Given the description of an element on the screen output the (x, y) to click on. 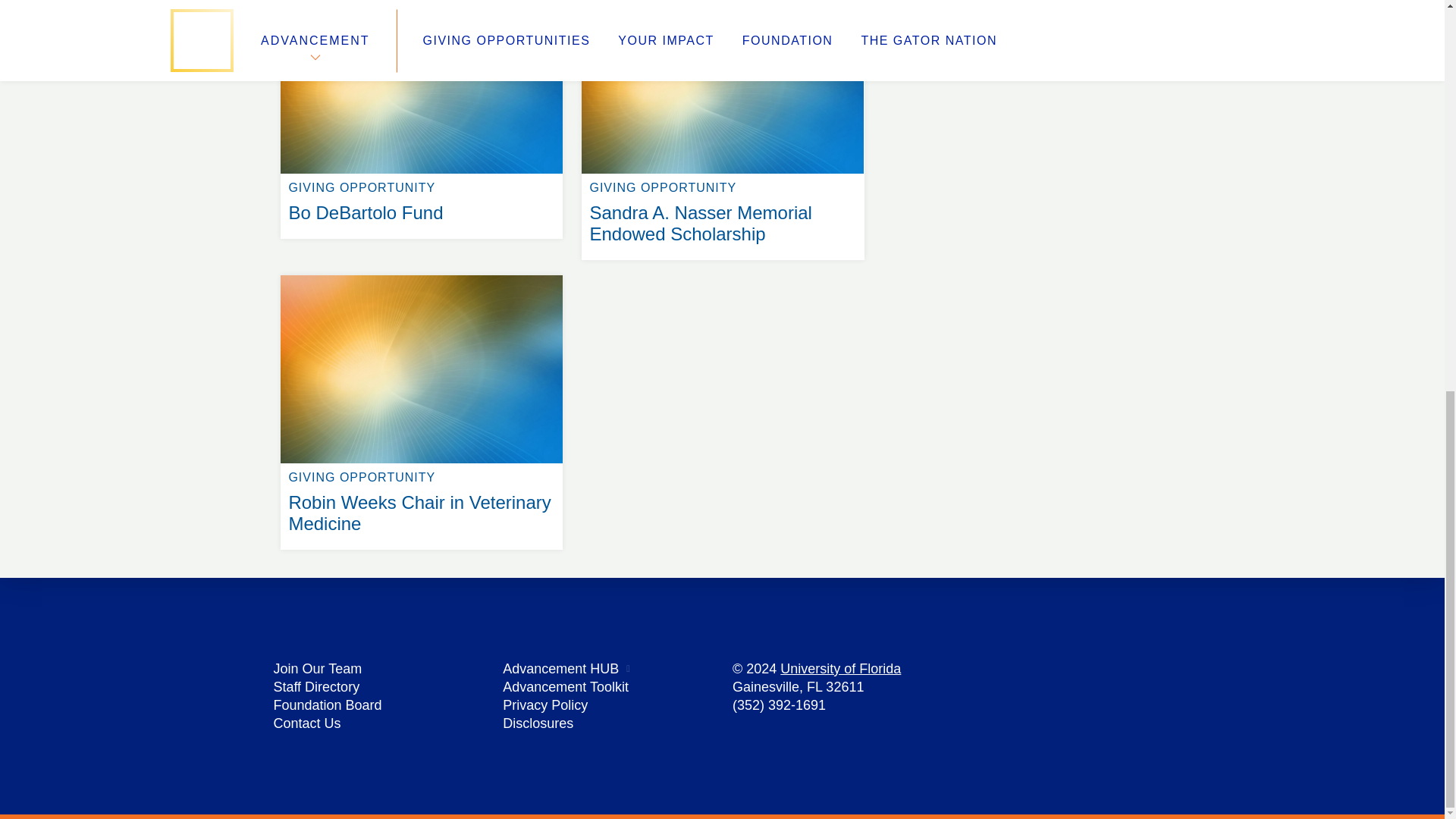
Advancement HUB (560, 668)
Advancement Toolkit (565, 686)
Privacy Policy (421, 274)
Staff Directory (545, 704)
Join Our Team (316, 686)
University of Florida (317, 668)
Disclosures (840, 668)
Foundation Board (537, 723)
Contact Us (327, 704)
